Given the description of an element on the screen output the (x, y) to click on. 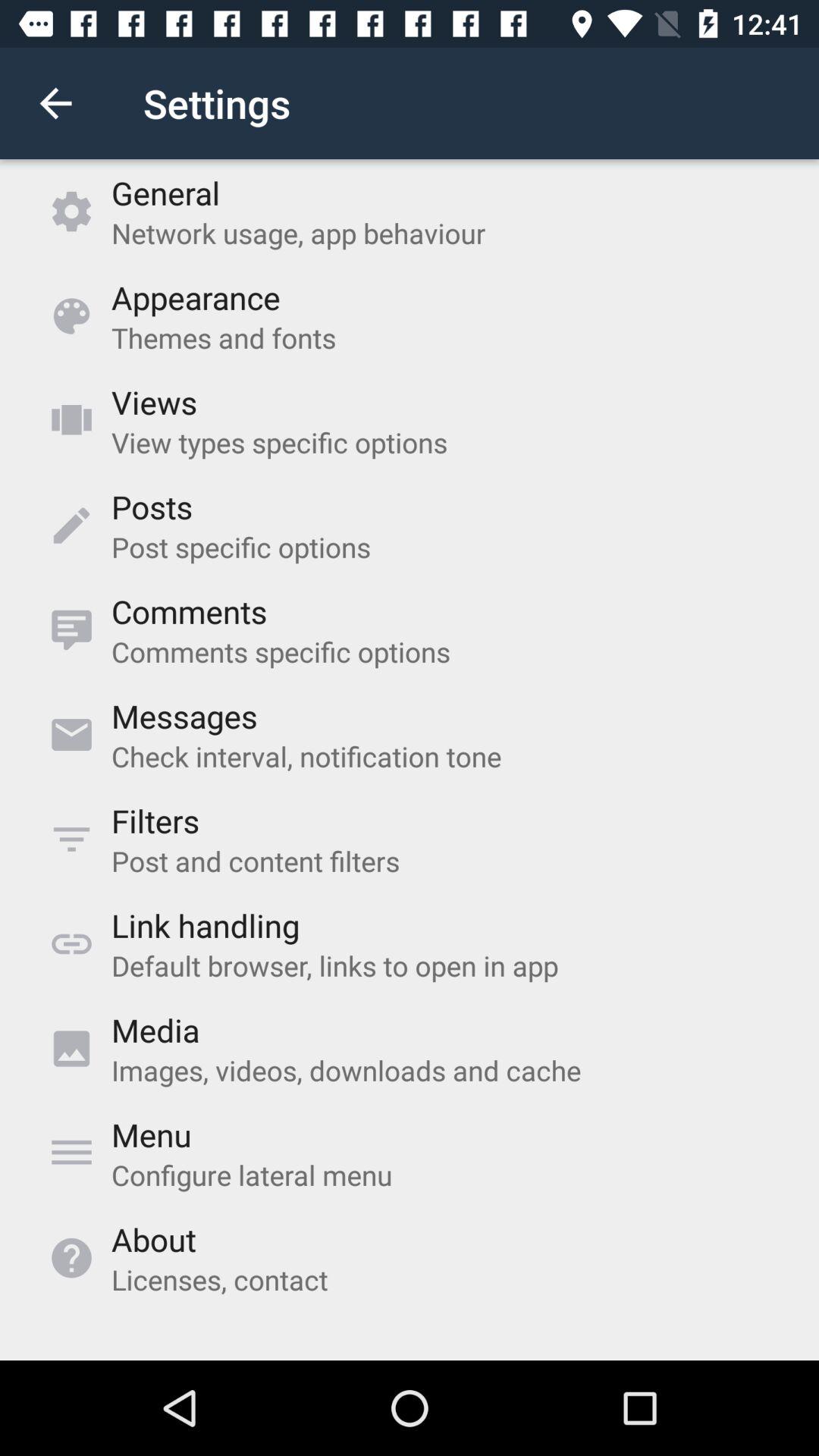
jump until configure lateral menu item (251, 1174)
